Given the description of an element on the screen output the (x, y) to click on. 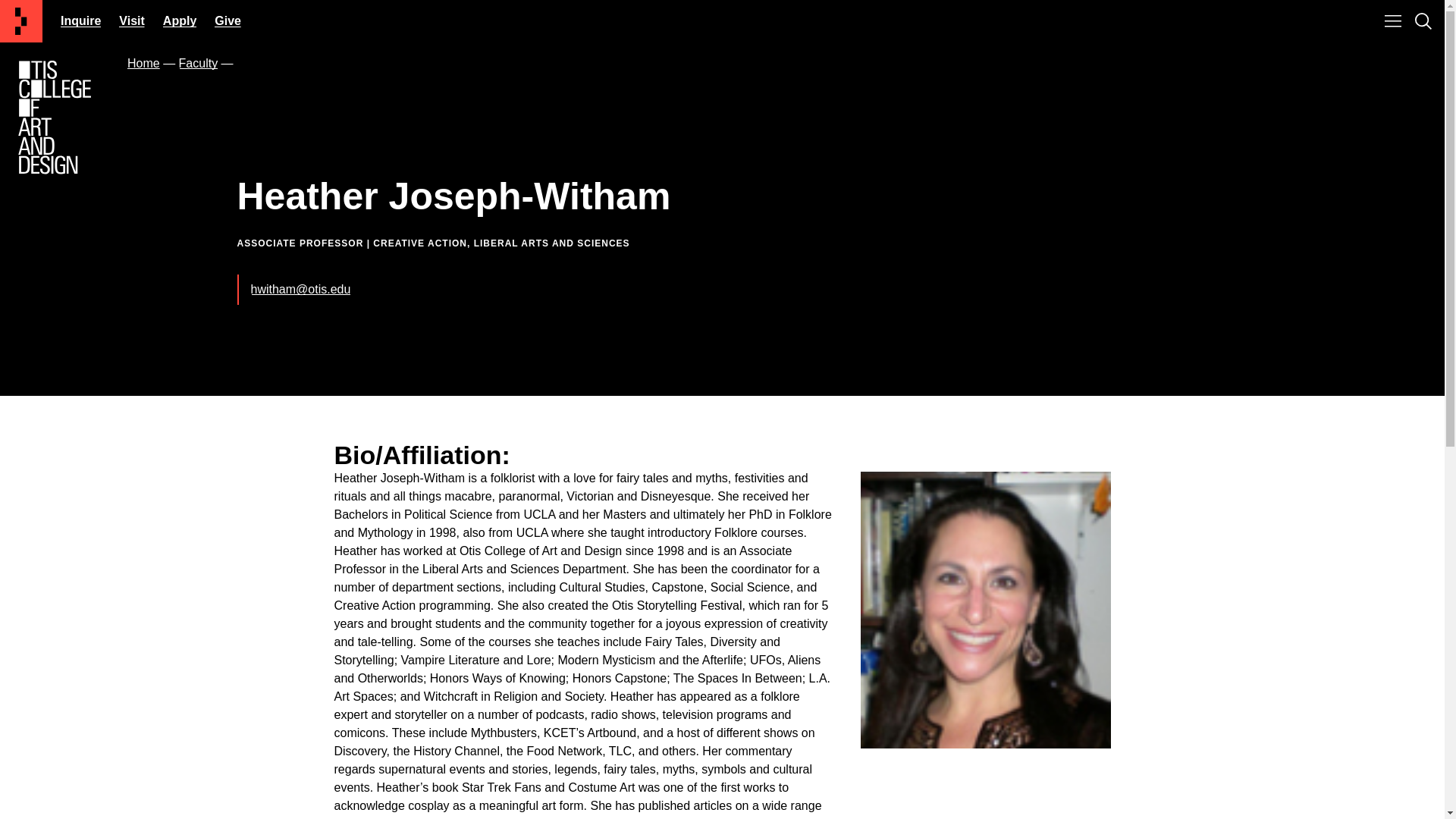
Skip to main content (721, 21)
Home (144, 62)
Visit (131, 20)
Inquire (80, 20)
Faculty (198, 62)
Apply (179, 20)
Give (227, 20)
